Given the description of an element on the screen output the (x, y) to click on. 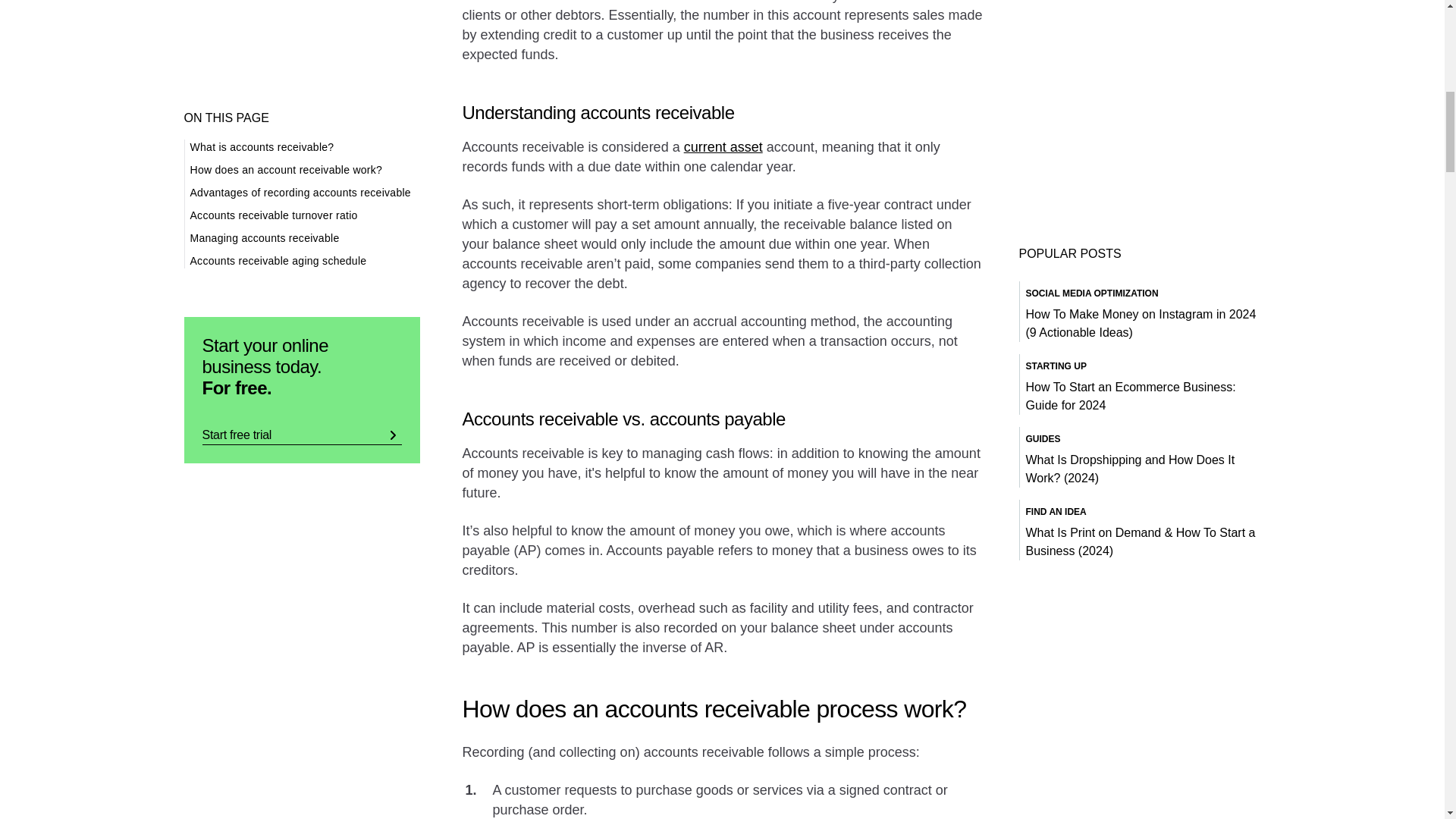
Current asset (723, 146)
